Given the description of an element on the screen output the (x, y) to click on. 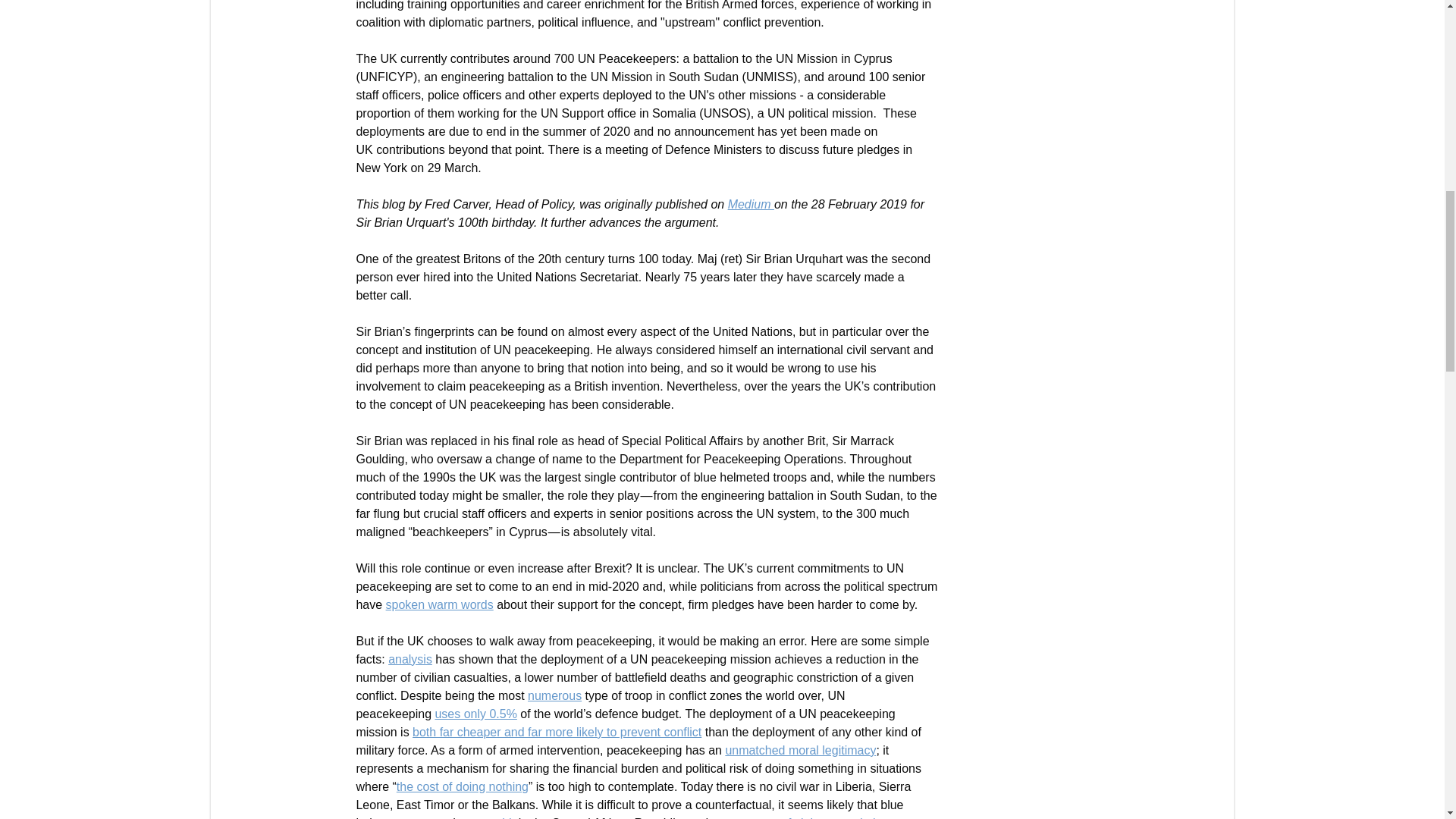
spoken warm words (439, 604)
Medium (751, 204)
